Given the description of an element on the screen output the (x, y) to click on. 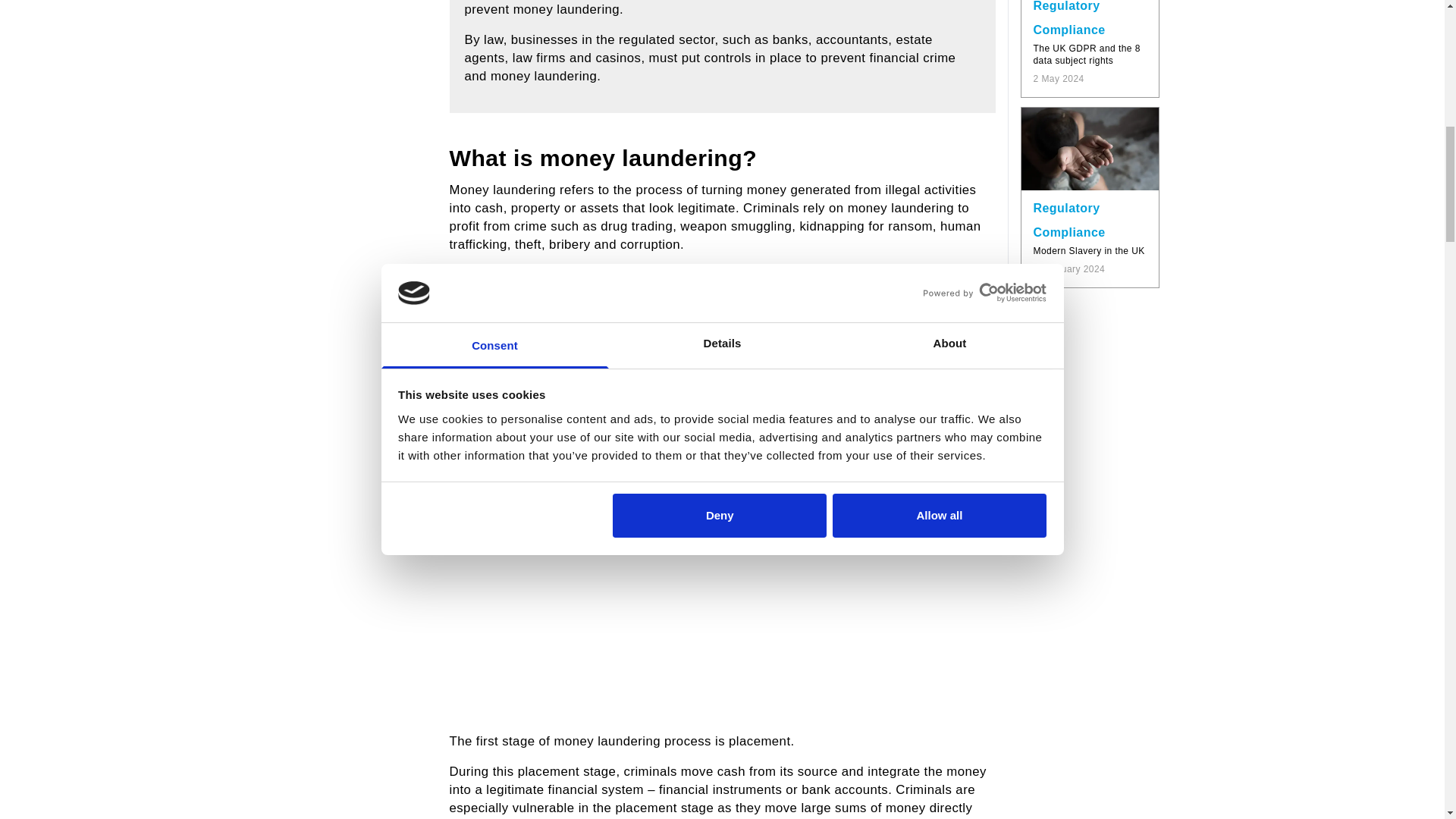
Placement stage of money laundering (721, 580)
